Given the description of an element on the screen output the (x, y) to click on. 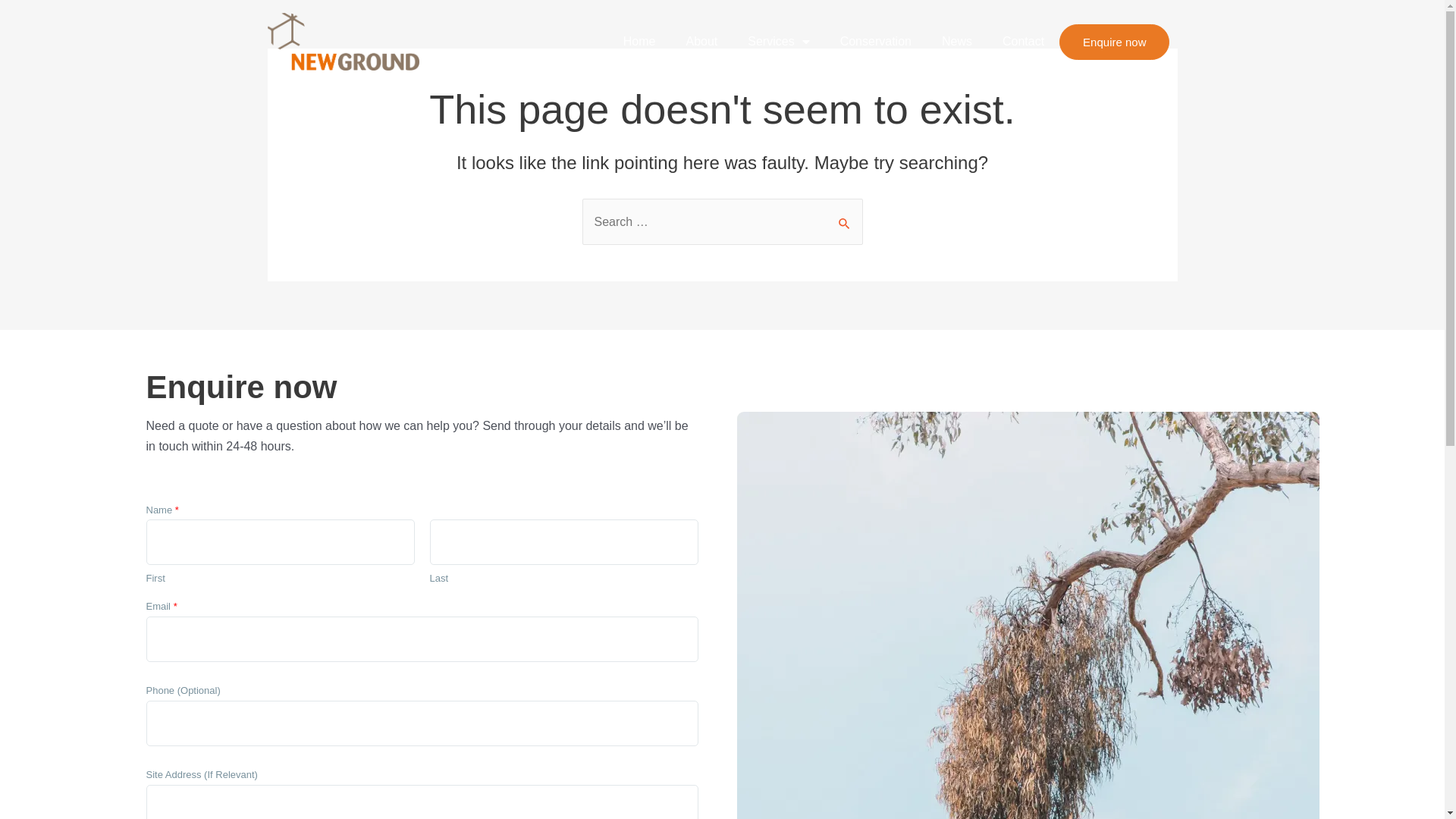
Services Element type: text (778, 41)
Search Element type: text (845, 214)
About Element type: text (701, 41)
News Element type: text (956, 41)
Enquire now Element type: text (1114, 41)
Home Element type: text (639, 41)
Contact Element type: text (1023, 41)
Conservation Element type: text (875, 41)
